Given the description of an element on the screen output the (x, y) to click on. 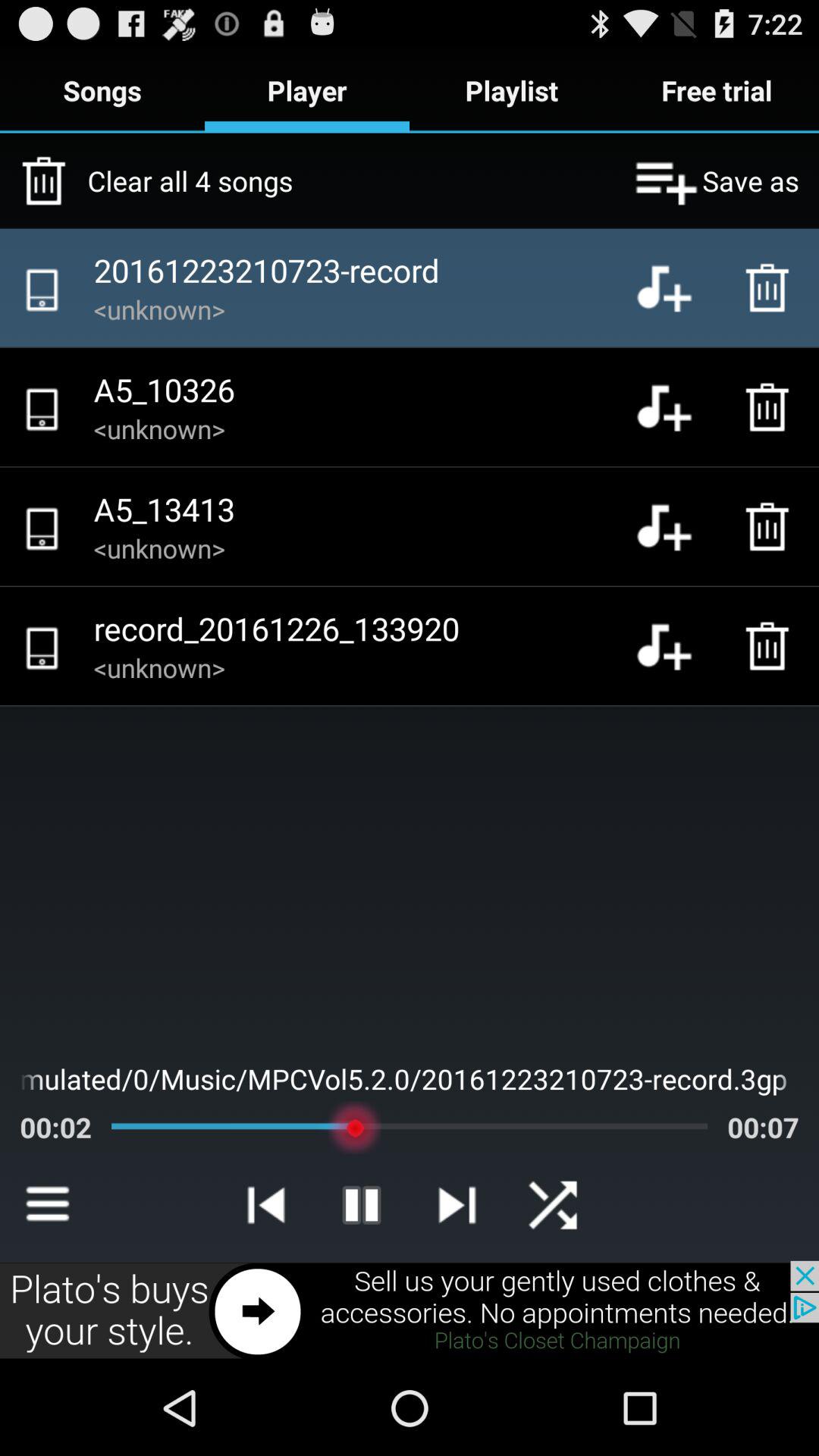
adverdasmand (409, 1310)
